Given the description of an element on the screen output the (x, y) to click on. 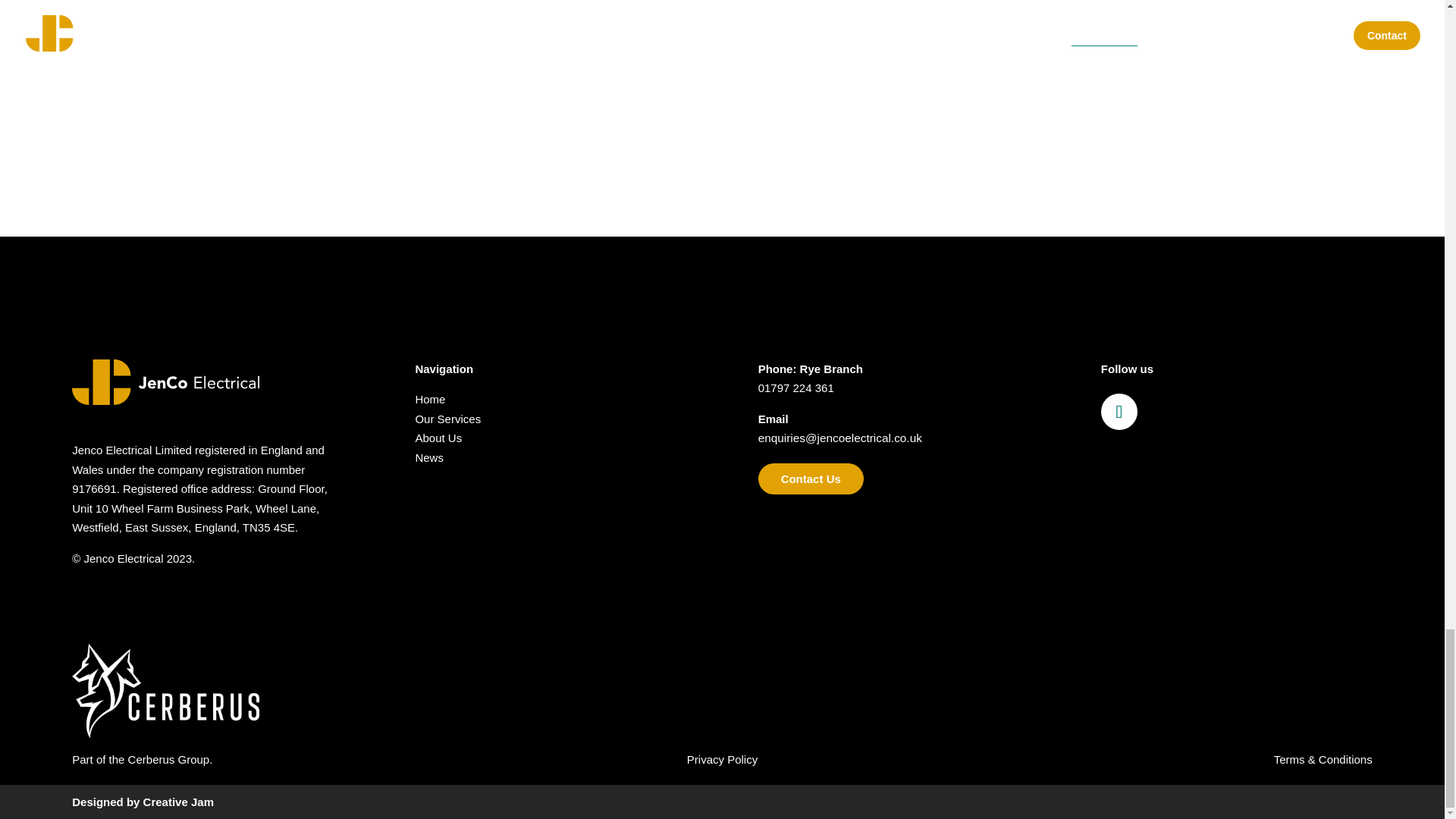
Follow on Facebook (1118, 411)
About Us (437, 437)
Our Services (447, 418)
Home (429, 399)
Privacy Policy (722, 758)
01797 224 361 (796, 387)
Contact Us (810, 479)
News (429, 457)
Designed by Creative Jam (142, 801)
